Given the description of an element on the screen output the (x, y) to click on. 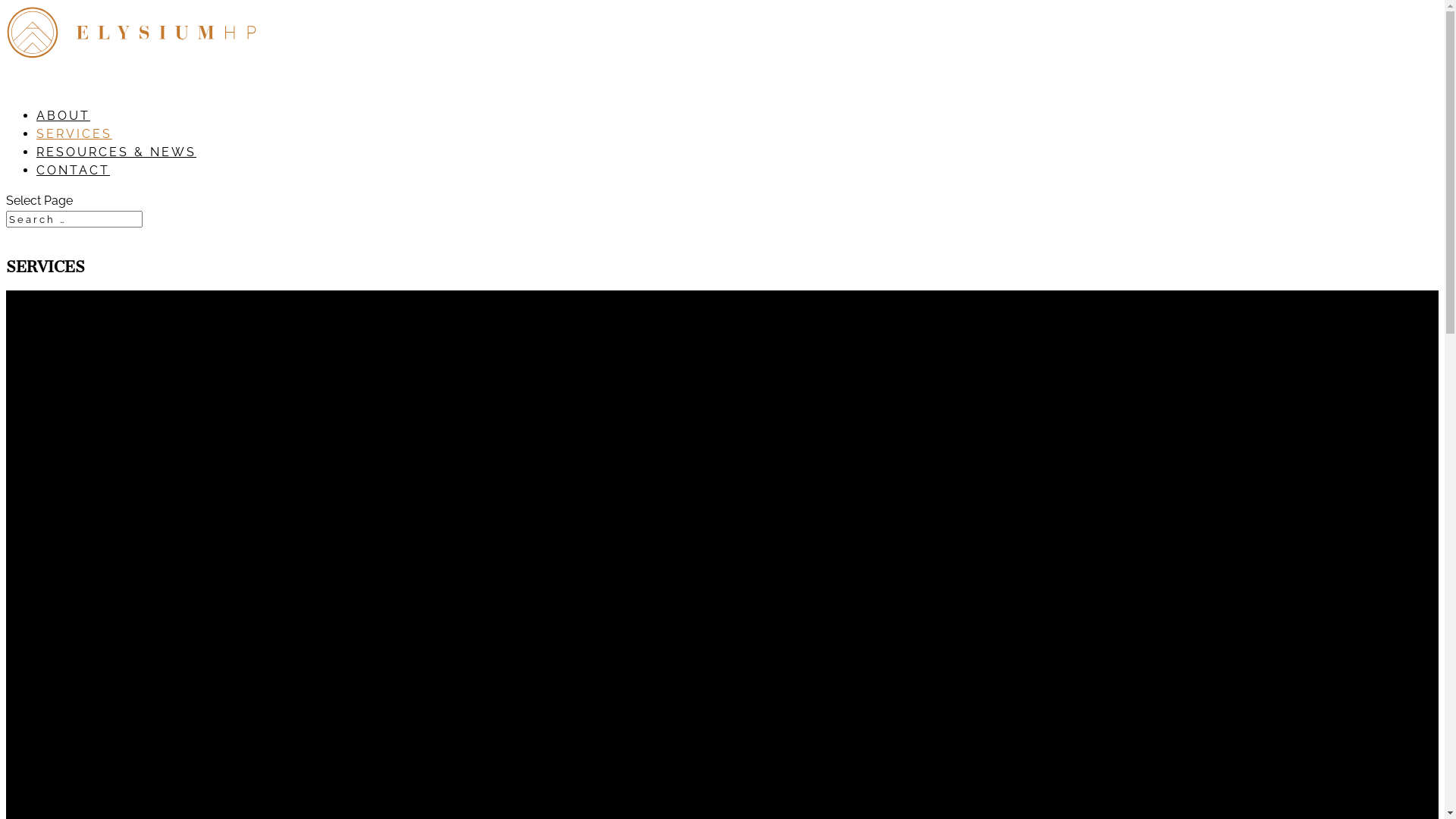
Search for: Element type: hover (74, 218)
CONTACT Element type: text (72, 185)
SERVICES Element type: text (74, 148)
RESOURCES & NEWS Element type: text (116, 166)
ABOUT Element type: text (63, 130)
